Given the description of an element on the screen output the (x, y) to click on. 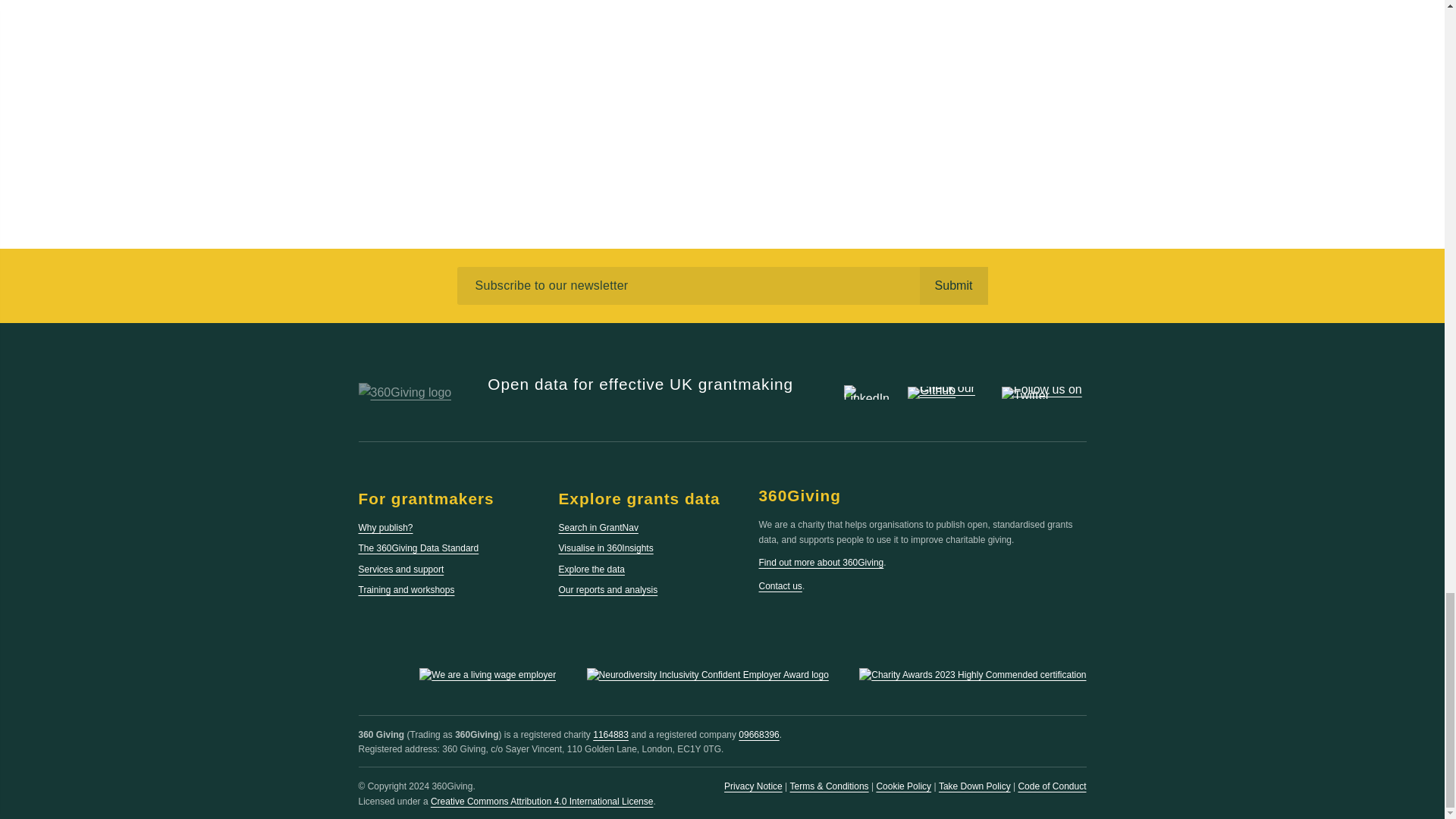
Submit (952, 285)
